Given the description of an element on the screen output the (x, y) to click on. 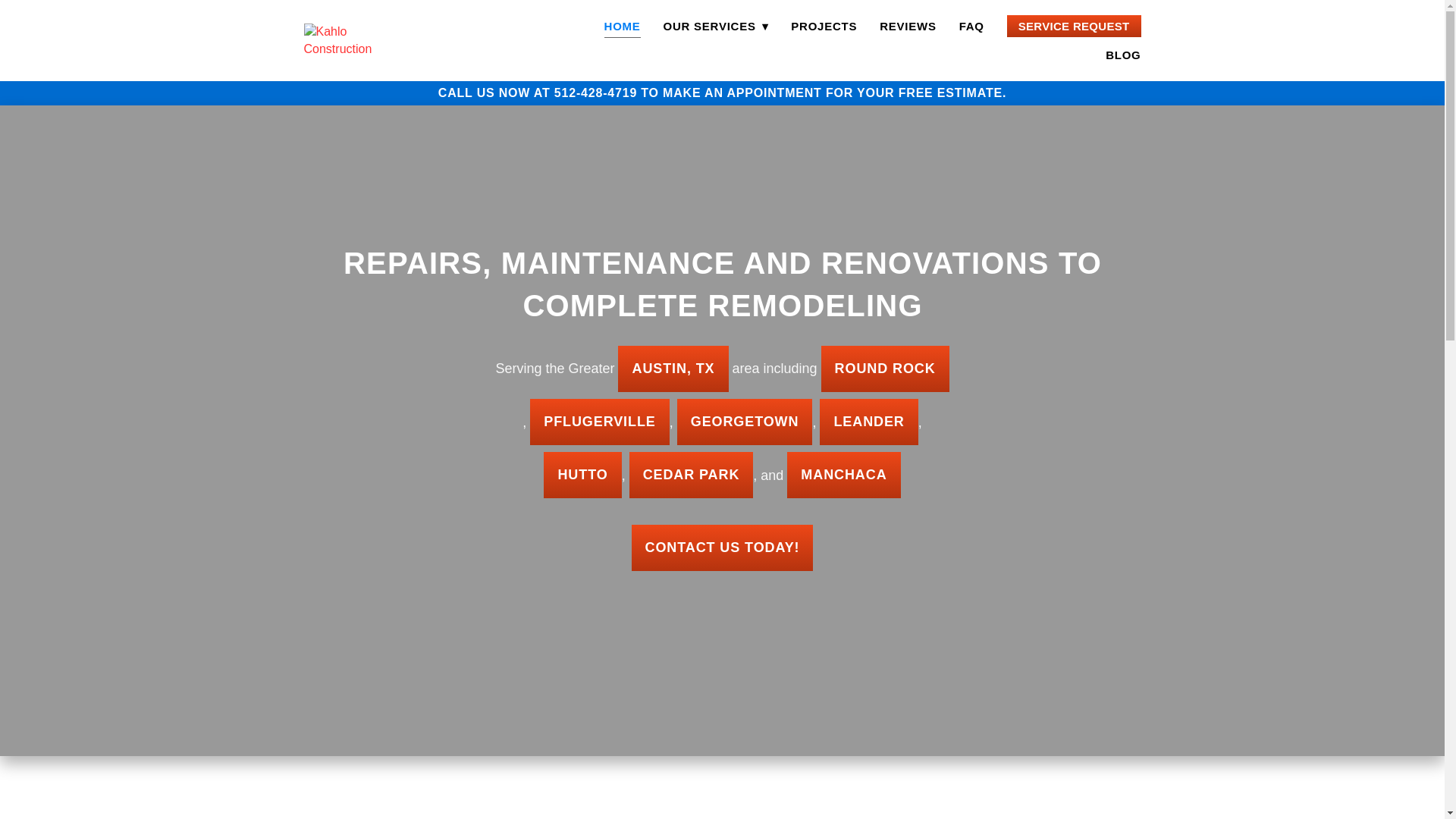
CONTACT US TODAY! (721, 547)
ROUND ROCK (885, 368)
HOME (622, 25)
BLOG (1122, 55)
LEANDER (868, 421)
CEDAR PARK (691, 474)
GEORGETOWN (744, 421)
REVIEWS (907, 25)
Kahlo Construction (357, 40)
PFLUGERVILLE (598, 421)
MANCHACA (843, 474)
AUSTIN, TX (672, 368)
FAQ (971, 25)
SERVICE REQUEST (1074, 25)
HUTTO (582, 474)
